Given the description of an element on the screen output the (x, y) to click on. 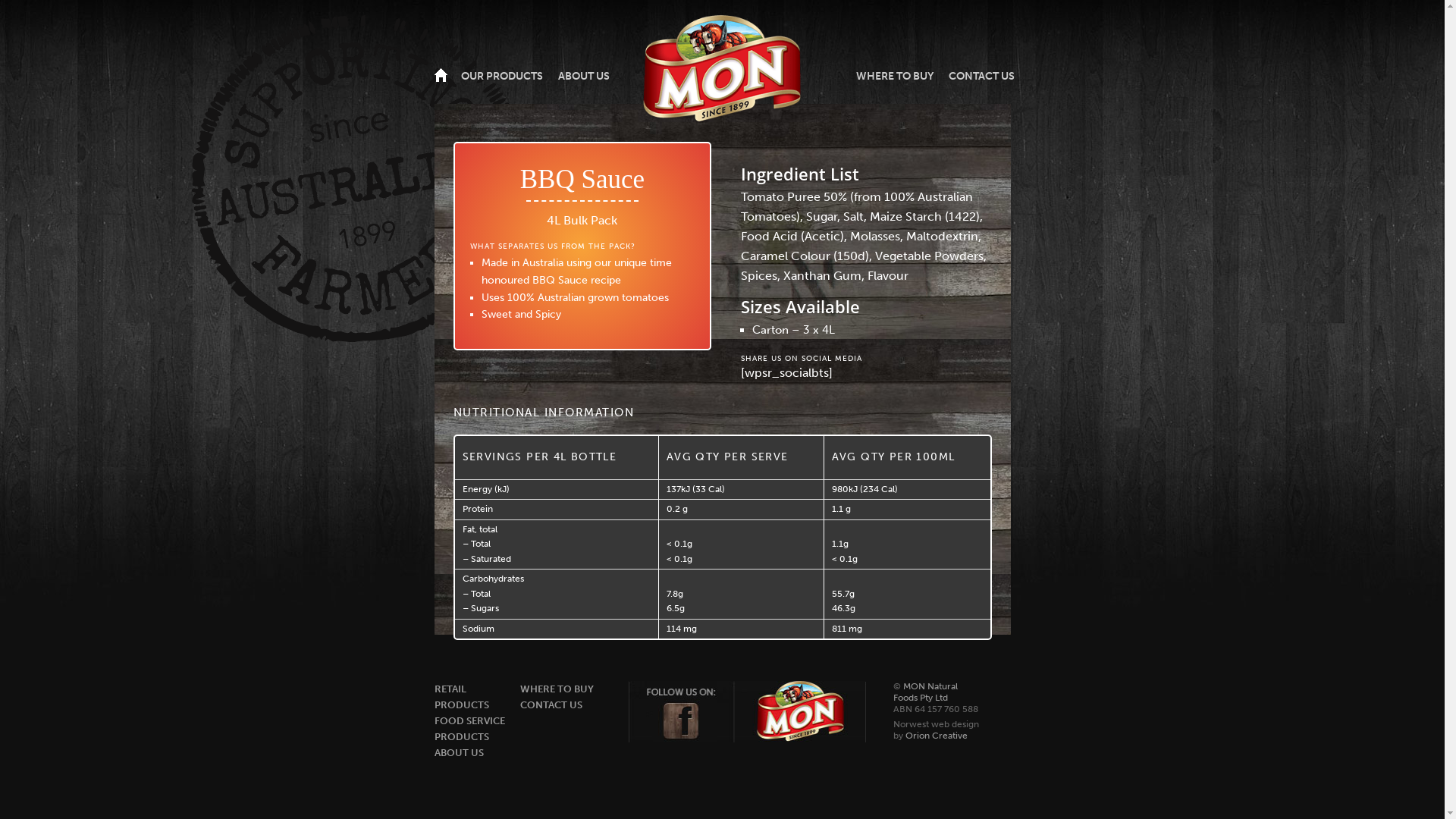
WHERE TO BUY Element type: text (556, 688)
CONTACT US Element type: text (981, 76)
ABOUT US Element type: text (582, 76)
CONTACT US Element type: text (551, 704)
OUR PRODUCTS Element type: text (501, 76)
MON Natural
Foods Pty Ltd Element type: text (925, 691)
MON Natural Foods Element type: text (721, 69)
ABOUT US Element type: text (458, 752)
Orion Creative Element type: text (936, 735)
MON Natural Foods Element type: text (569, 70)
WHERE TO BUY Element type: text (894, 76)
FOOD SERVICE PRODUCTS Element type: text (468, 728)
HOME Element type: text (440, 75)
RETAIL PRODUCTS Element type: text (460, 696)
